Given the description of an element on the screen output the (x, y) to click on. 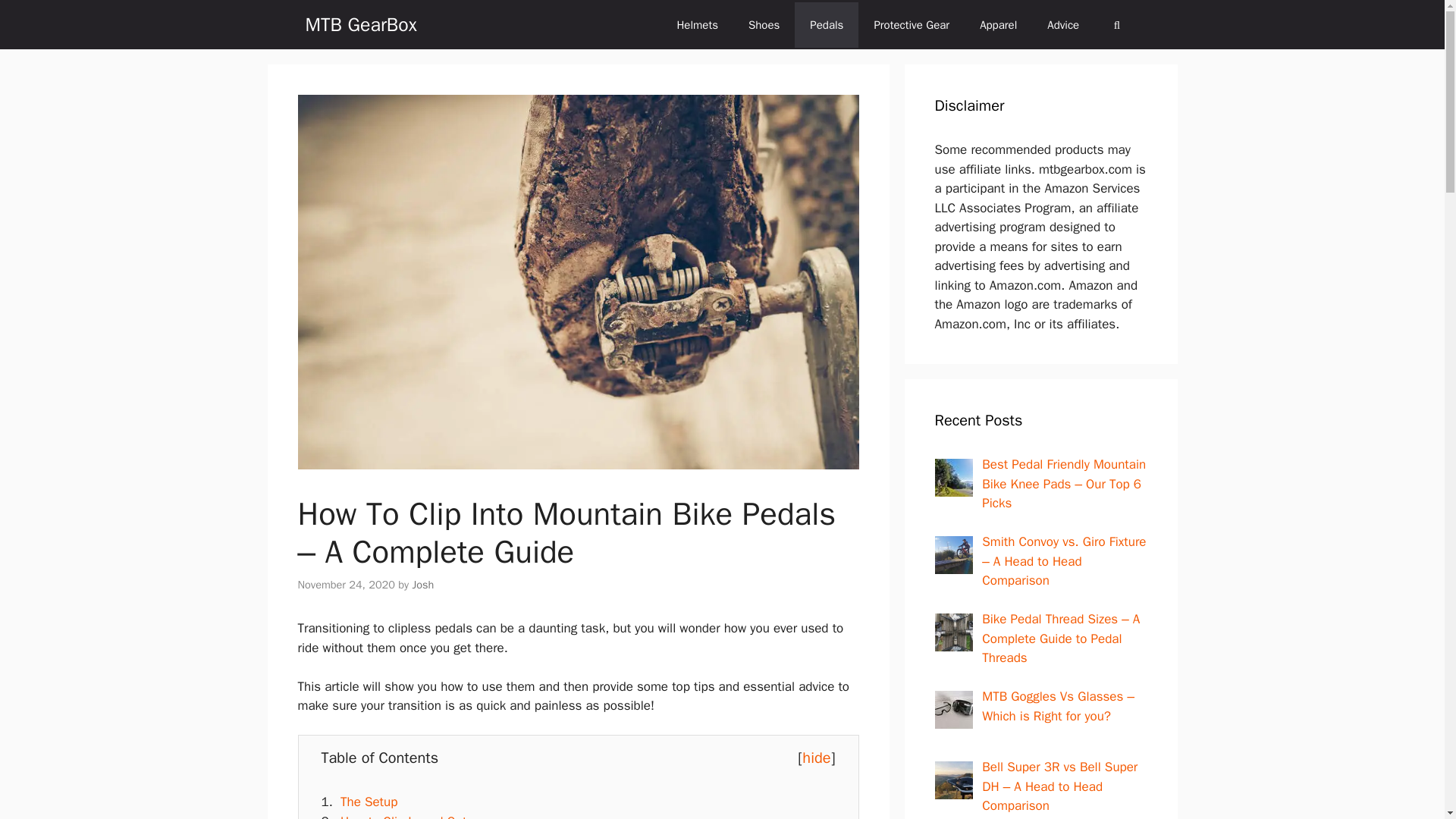
Apparel (997, 23)
Helmets (697, 23)
Shoes (763, 23)
Advice (1063, 23)
Josh (422, 584)
How to Clip In and Out (402, 816)
Pedals (826, 23)
hide (815, 757)
MTB GearBox (360, 24)
Protective Gear (911, 23)
View all posts by Josh (422, 584)
The Setup (368, 801)
